Given the description of an element on the screen output the (x, y) to click on. 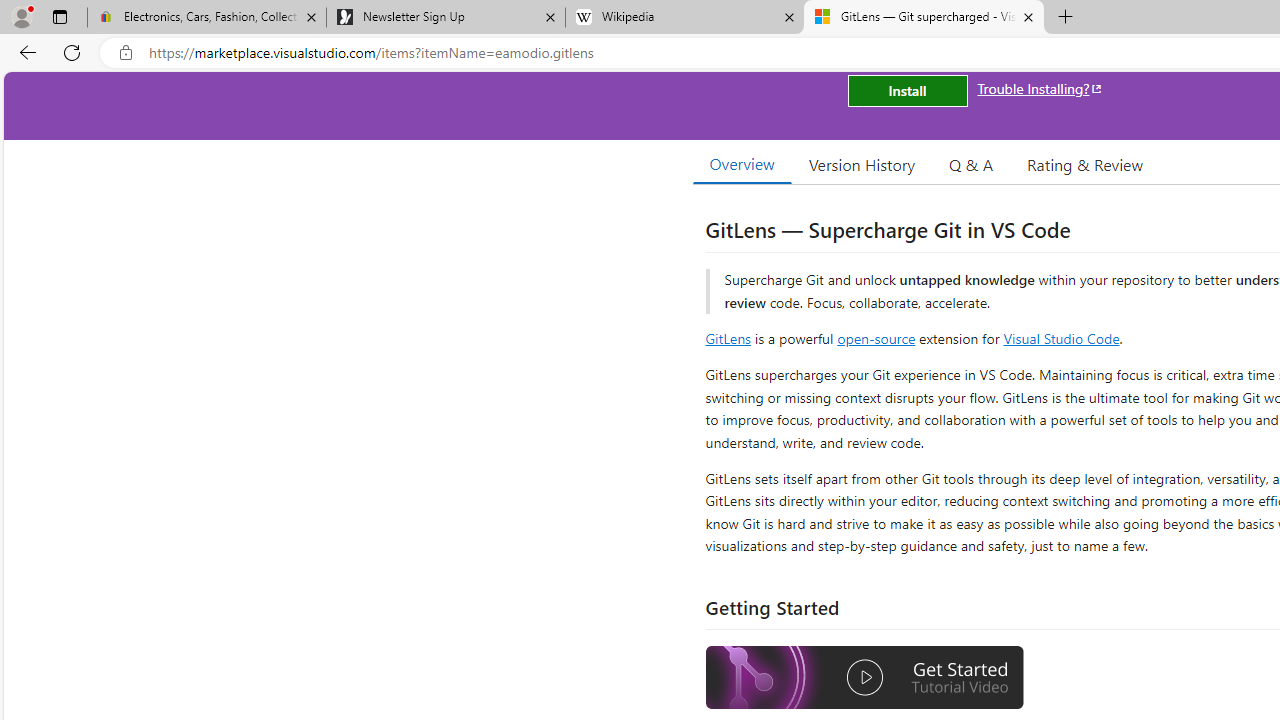
Visual Studio Code (1061, 337)
Watch the GitLens Getting Started video (865, 678)
GitLens (728, 337)
